Given the description of an element on the screen output the (x, y) to click on. 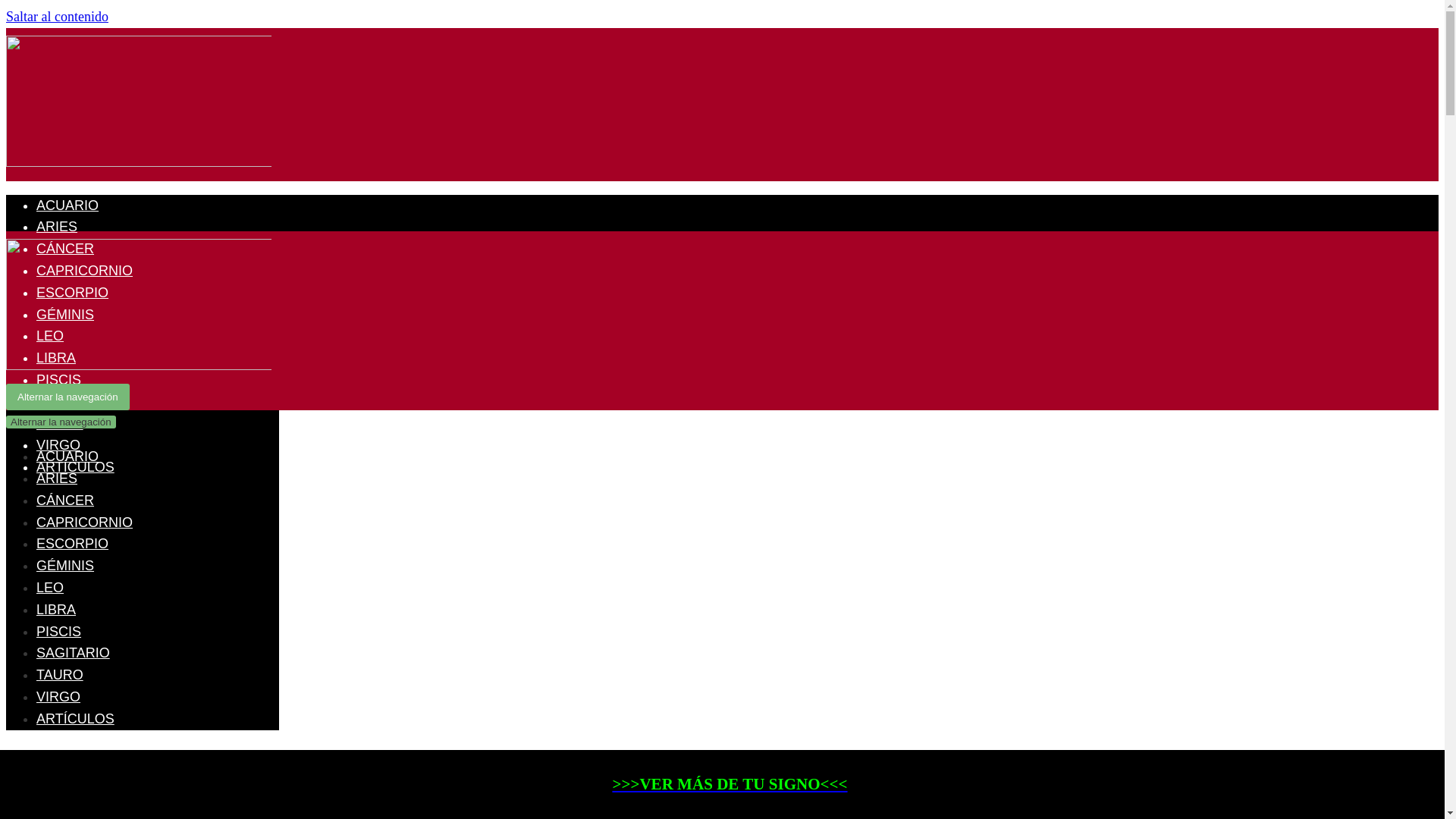
Saltar al contenido Element type: text (57, 16)
VIRGO Element type: text (58, 444)
12 SIGNOS Element type: hover (138, 161)
LEO Element type: text (49, 587)
PISCIS Element type: text (58, 379)
VIRGO Element type: text (58, 696)
LIBRA Element type: text (55, 609)
CAPRICORNIO Element type: text (84, 270)
ARIES Element type: text (56, 226)
TAURO Element type: text (59, 674)
TAURO Element type: text (59, 423)
12 SIGNOS Element type: hover (138, 365)
ESCORPIO Element type: text (72, 292)
CAPRICORNIO Element type: text (84, 522)
SAGITARIO Element type: text (72, 401)
ACUARIO Element type: text (67, 205)
ACUARIO Element type: text (67, 456)
SAGITARIO Element type: text (72, 652)
LIBRA Element type: text (55, 357)
ESCORPIO Element type: text (72, 543)
ARIES Element type: text (56, 478)
PISCIS Element type: text (58, 631)
LEO Element type: text (49, 335)
